Given the description of an element on the screen output the (x, y) to click on. 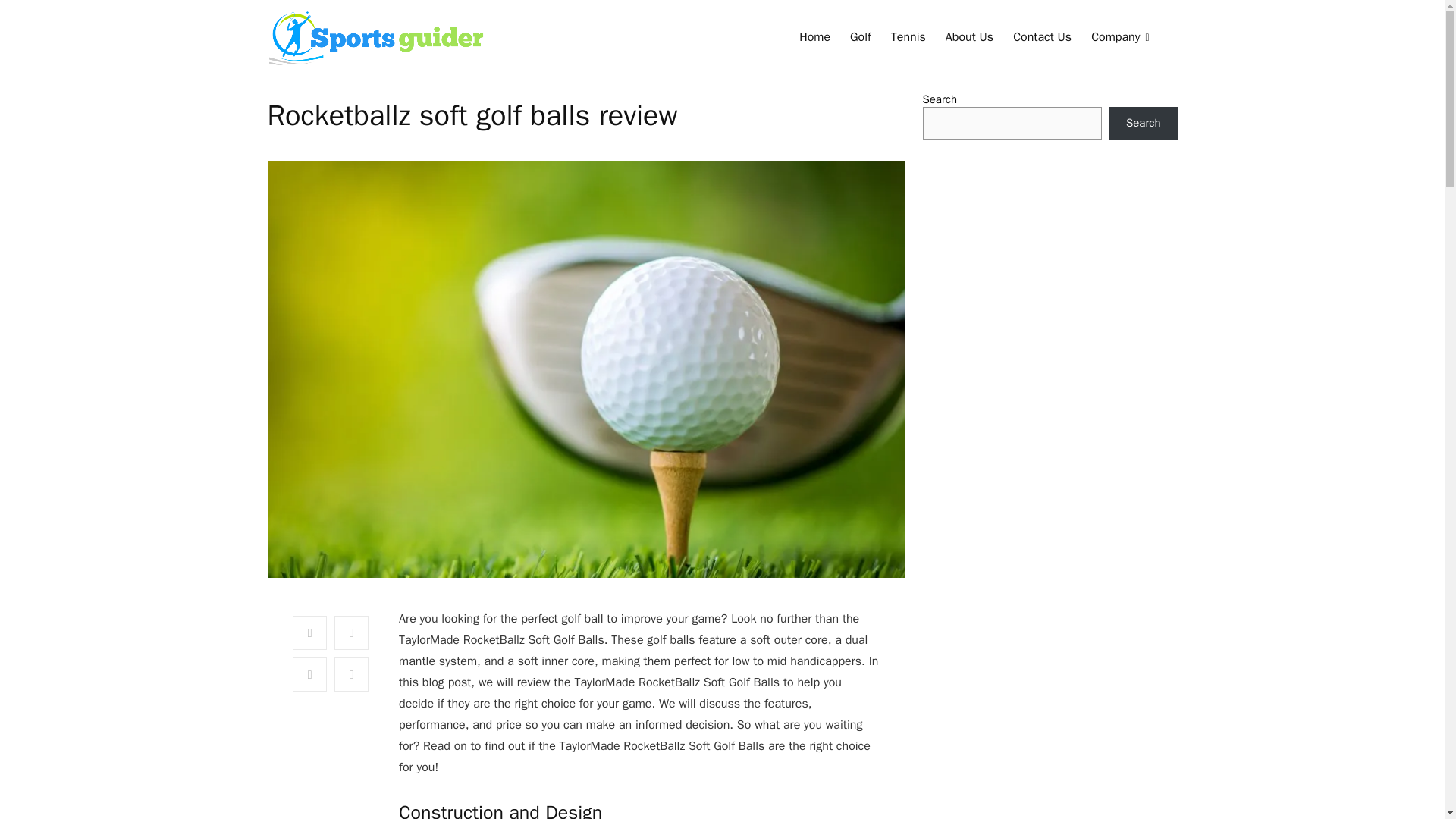
Tennis (908, 38)
Home (814, 38)
Golf (860, 38)
About Us (969, 38)
Contact Us (1042, 38)
Search (1143, 123)
Company (1119, 38)
